Given the description of an element on the screen output the (x, y) to click on. 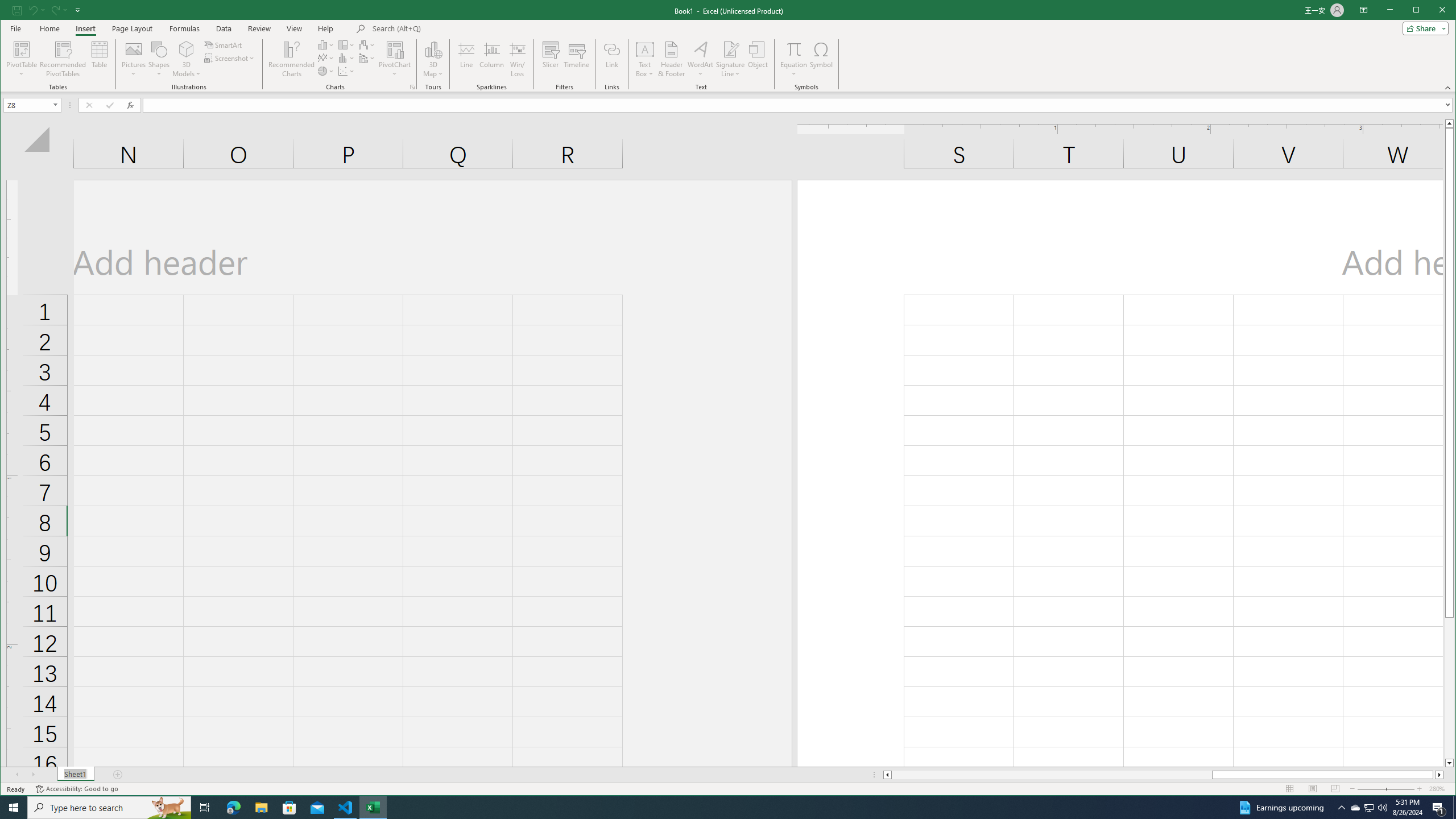
Insert Statistic Chart (346, 57)
Line (466, 59)
Microsoft Edge (233, 807)
Table (99, 59)
PivotTable (22, 48)
Link (611, 59)
